Given the description of an element on the screen output the (x, y) to click on. 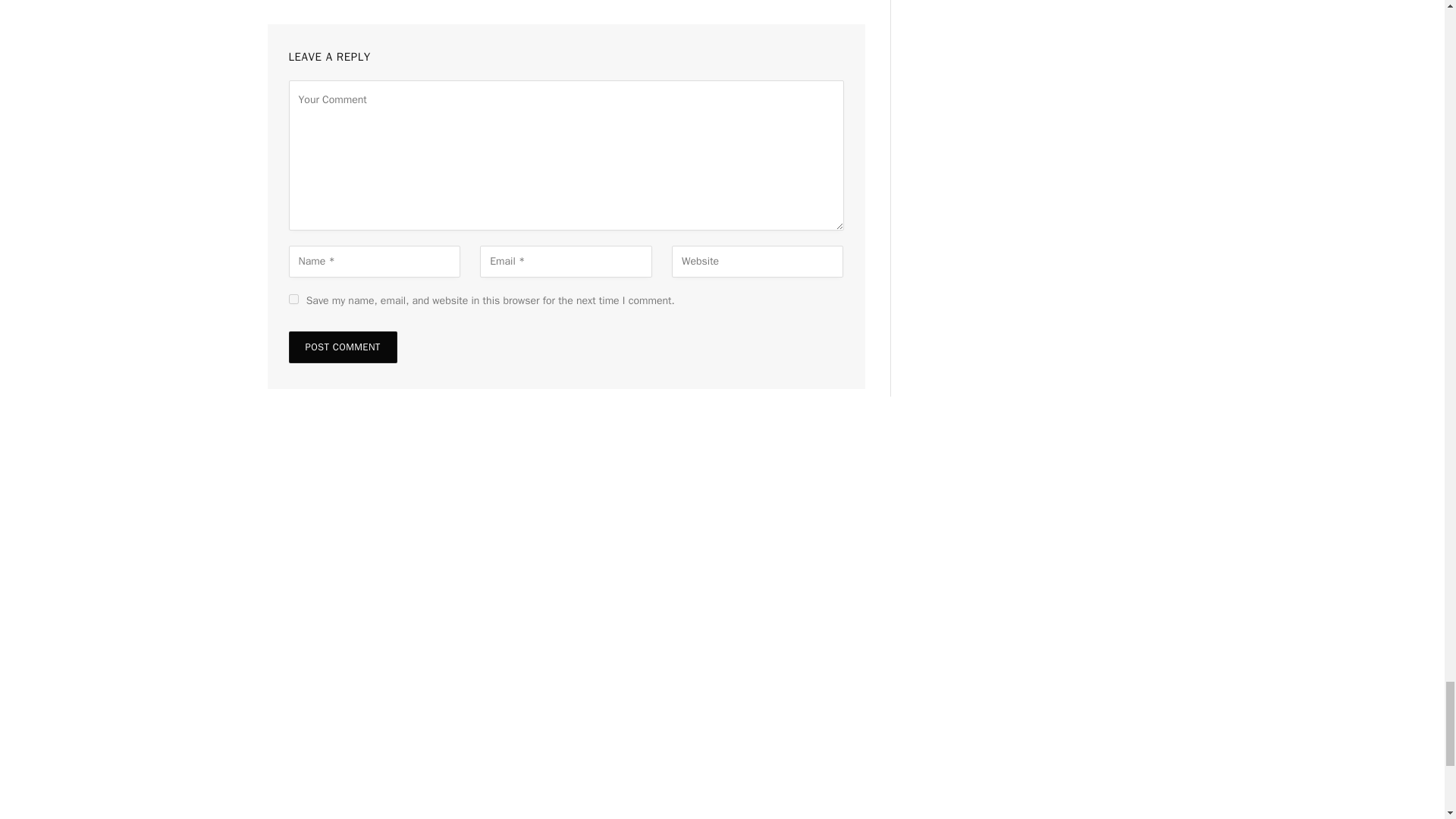
Post Comment (342, 347)
yes (293, 298)
